Given the description of an element on the screen output the (x, y) to click on. 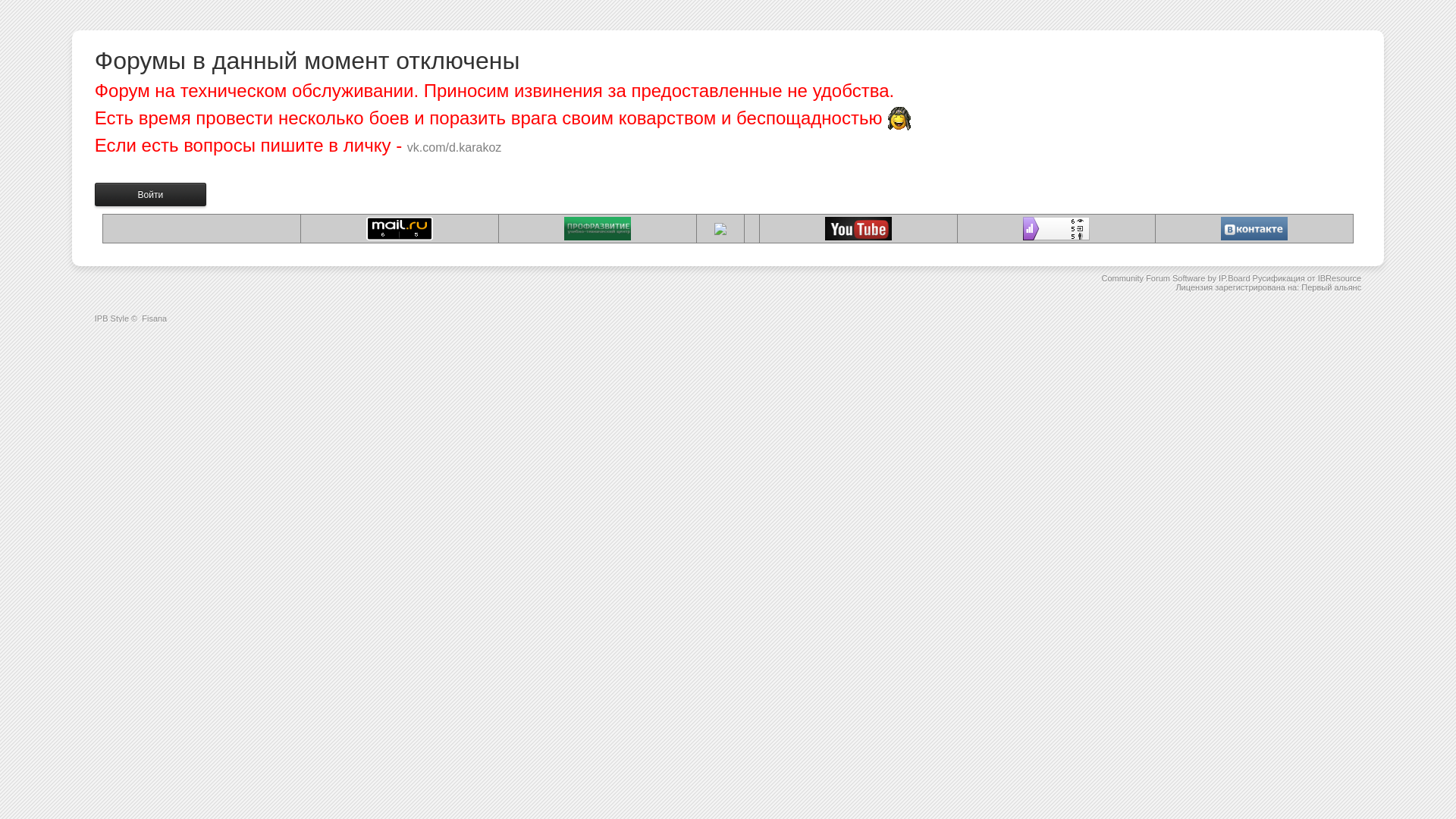
Fisana Element type: text (153, 318)
Community Forum Software by IP.Board Element type: text (1175, 277)
IPB Style Element type: text (111, 318)
